Given the description of an element on the screen output the (x, y) to click on. 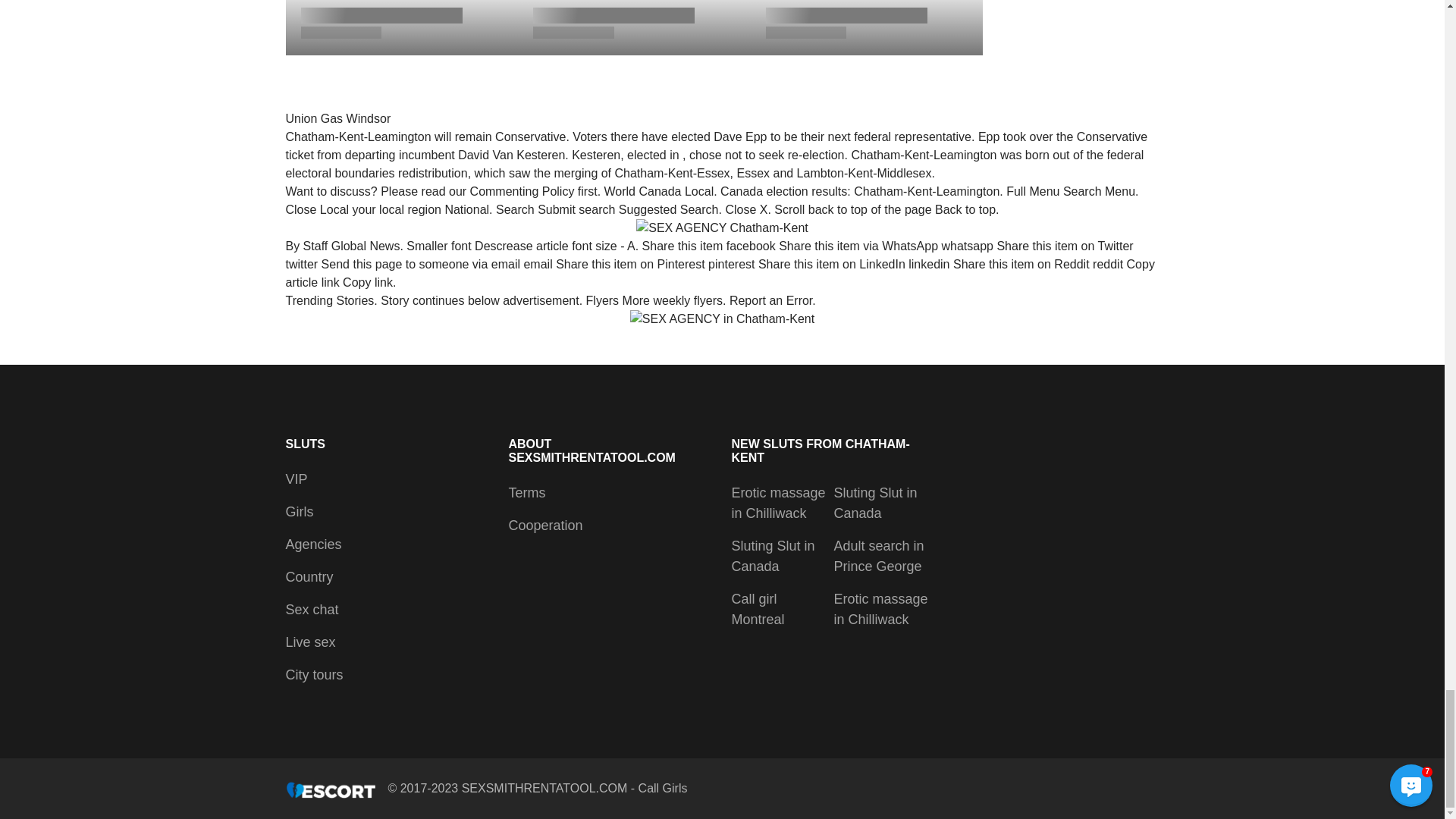
SEX ESCORT Chatham-Kent (722, 228)
SEX ESCORT in Chatham-Kent (721, 319)
